Given the description of an element on the screen output the (x, y) to click on. 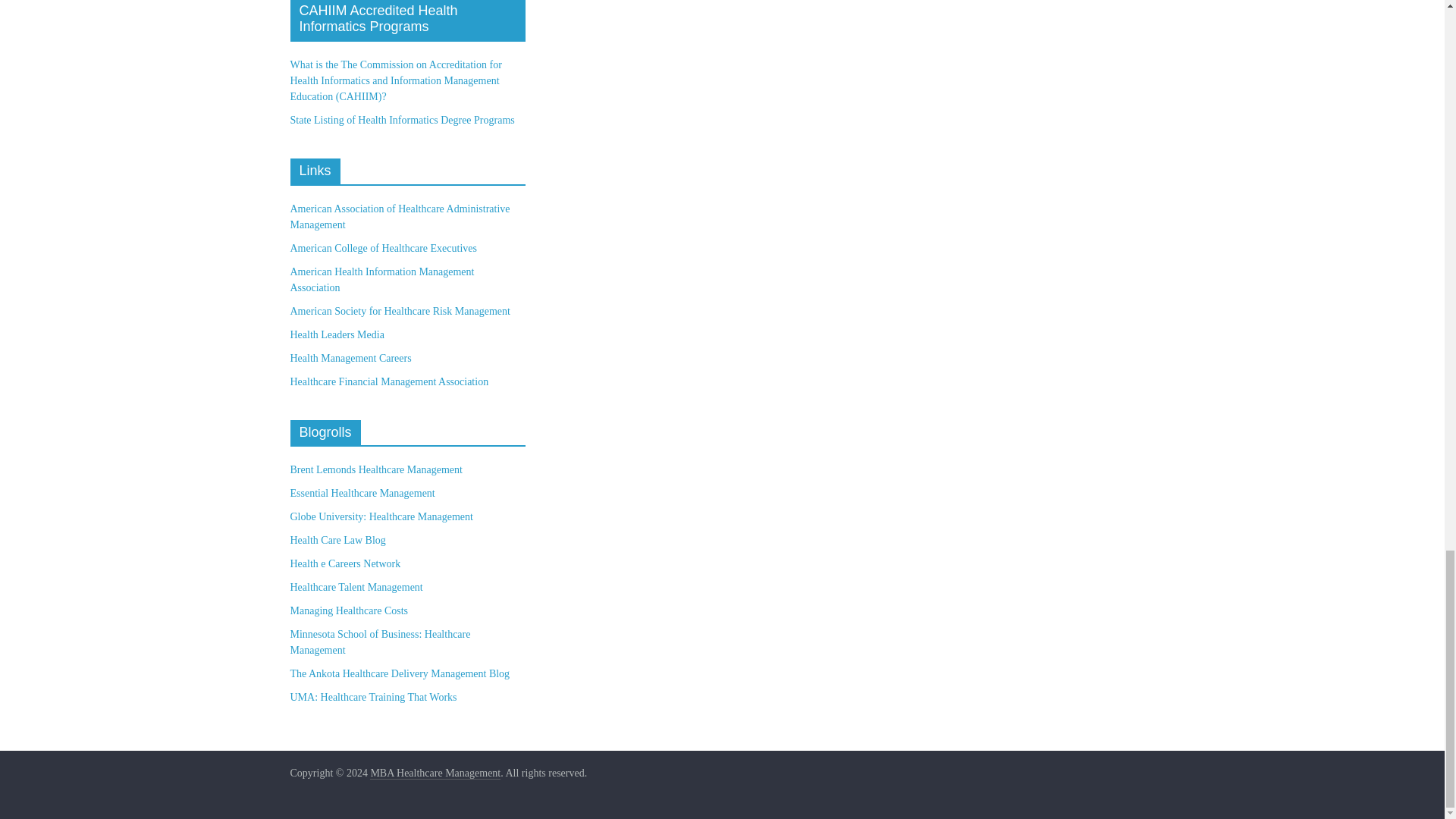
American Association of Healthcare Administrative Management (399, 216)
Articles and tips for Healthcare Management Students. (379, 642)
Hiring and Performance Strategies for Healthcare. (355, 586)
American Health Information Management Association (381, 279)
State Listing of Health Informatics Degree Programs (401, 120)
Latest news on healthcare leadership, costs, and management. (380, 516)
American College of Healthcare Executives (382, 247)
MBA Healthcare Management (434, 773)
